Given the description of an element on the screen output the (x, y) to click on. 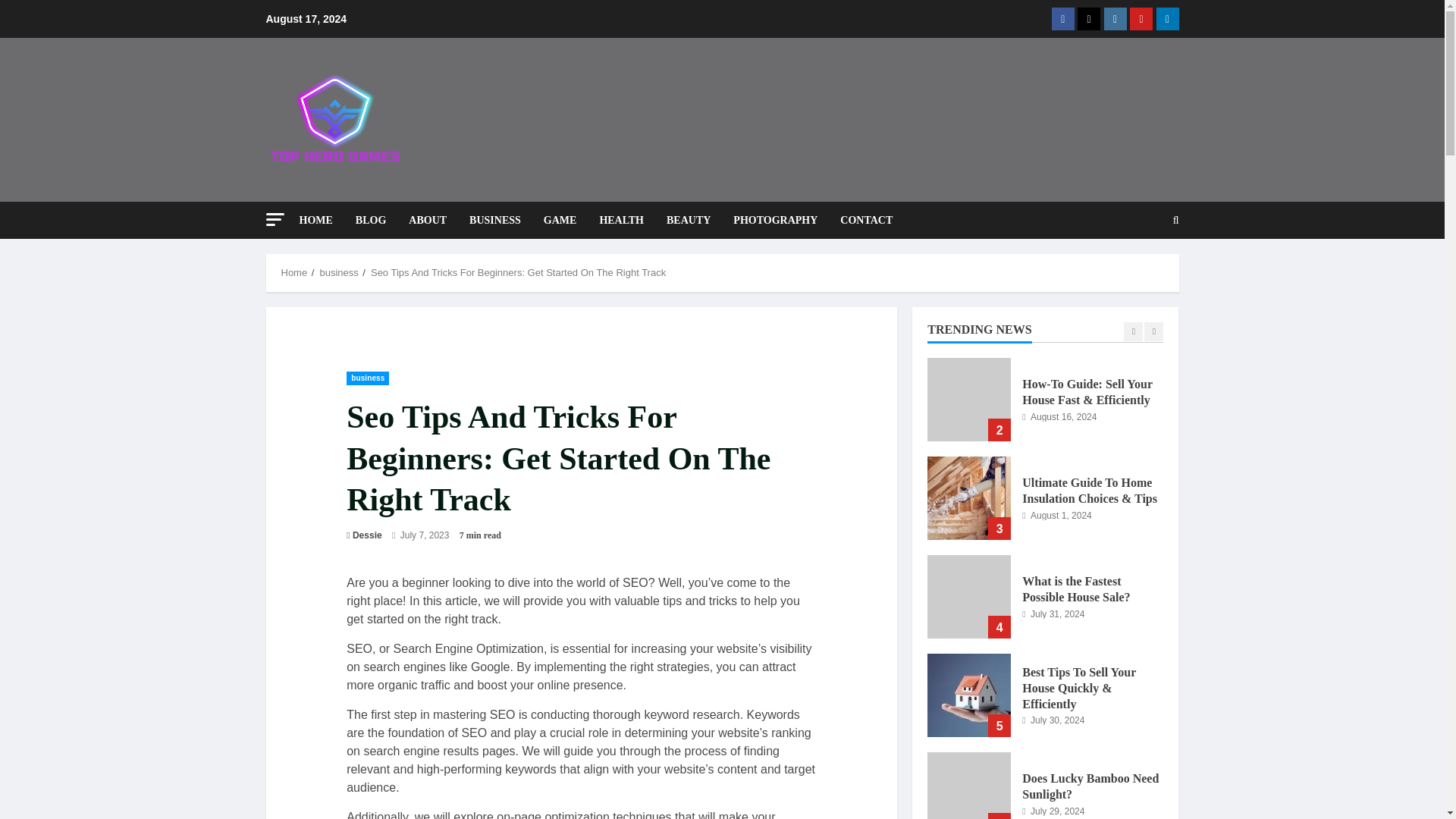
Linkedin (1166, 18)
GAME (560, 220)
BUSINESS (495, 220)
HOME (320, 220)
Facebook.com (1062, 18)
Youtube.com (1141, 18)
BLOG (370, 220)
Instagram.com (1114, 18)
